Given the description of an element on the screen output the (x, y) to click on. 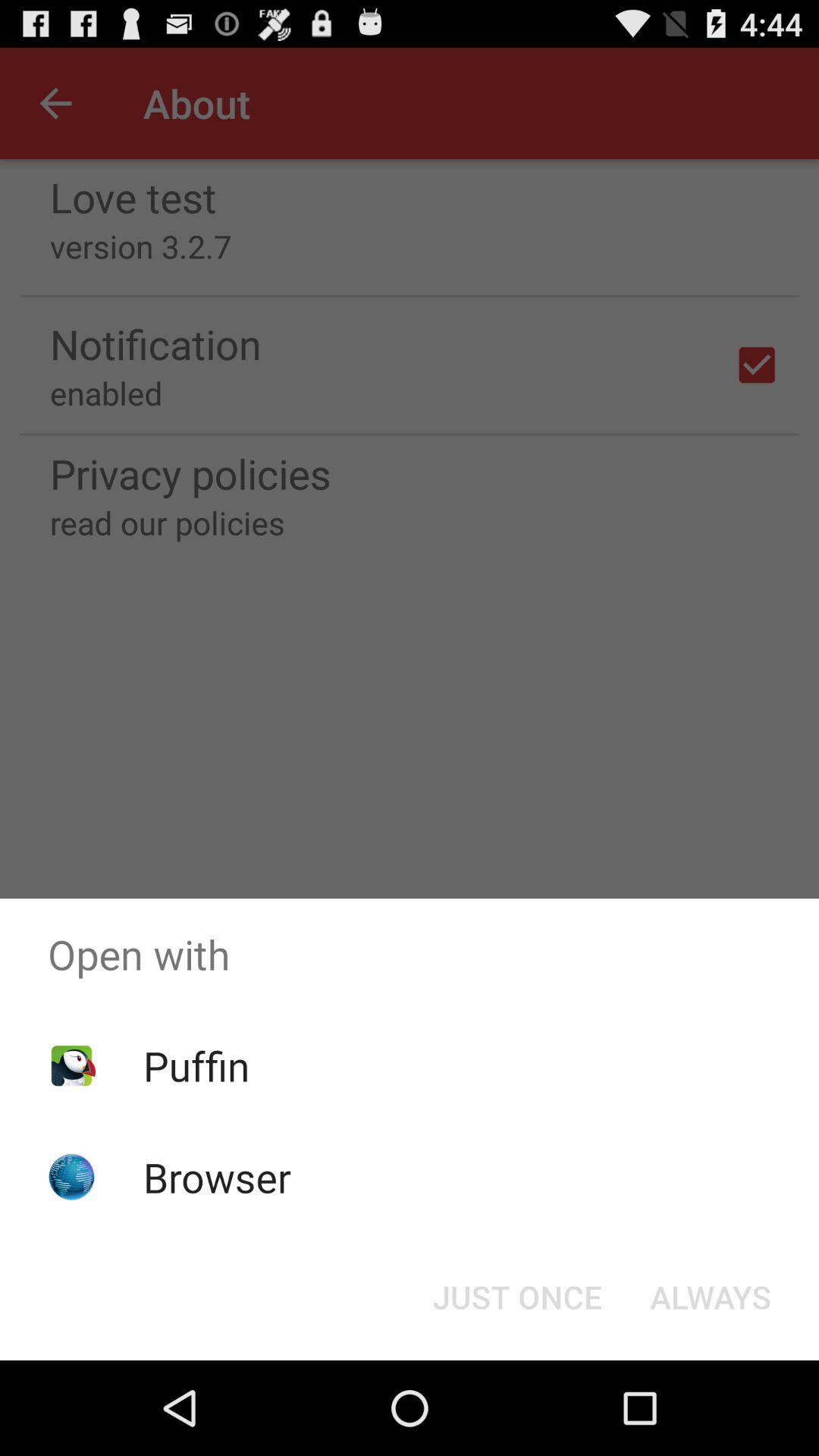
scroll to the puffin (196, 1065)
